Given the description of an element on the screen output the (x, y) to click on. 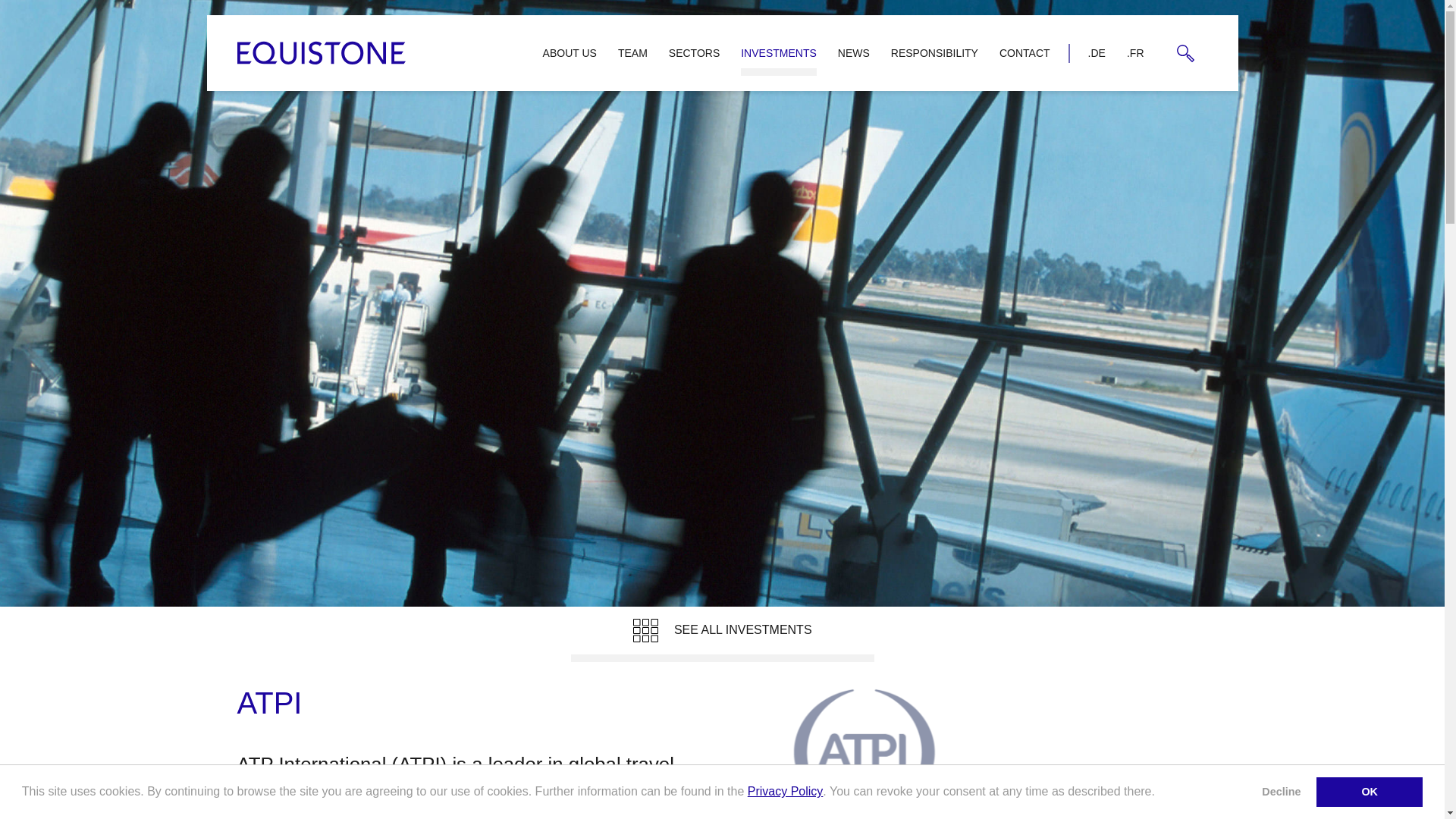
OK (1369, 791)
CONTACT (1024, 52)
Decline (1281, 791)
.FR (1135, 52)
ABOUT US (569, 52)
TEAM (632, 52)
RESPONSIBILITY (934, 52)
INVESTMENTS (778, 52)
SECTORS (694, 52)
.DE (1096, 52)
NEWS (853, 52)
SEE ALL INVESTMENTS (721, 633)
Privacy Policy (786, 790)
